Given the description of an element on the screen output the (x, y) to click on. 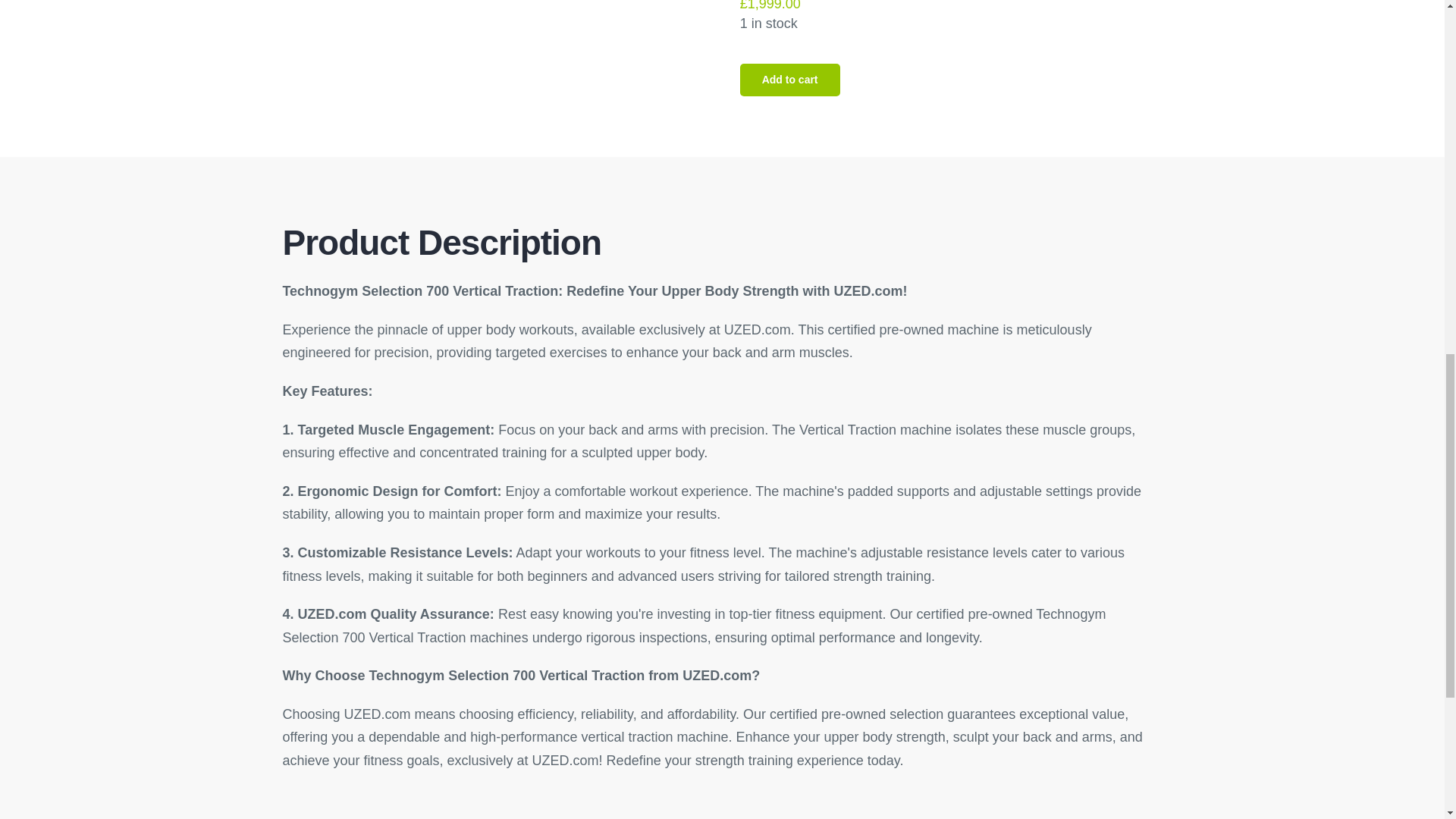
Add to cart (789, 79)
